Given the description of an element on the screen output the (x, y) to click on. 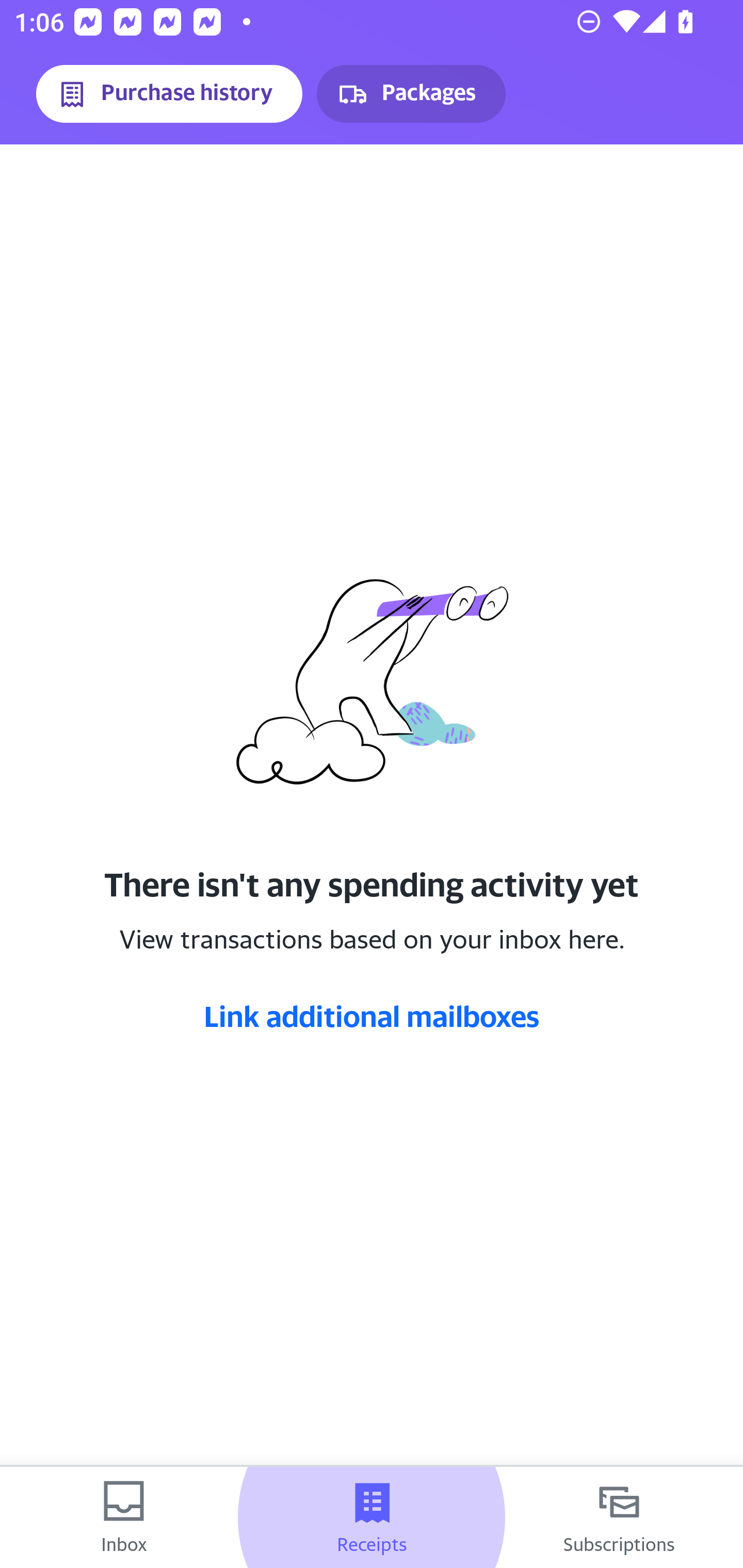
Packages (410, 93)
Link additional mailboxes (371, 1015)
Inbox (123, 1517)
Receipts (371, 1517)
Subscriptions (619, 1517)
